Given the description of an element on the screen output the (x, y) to click on. 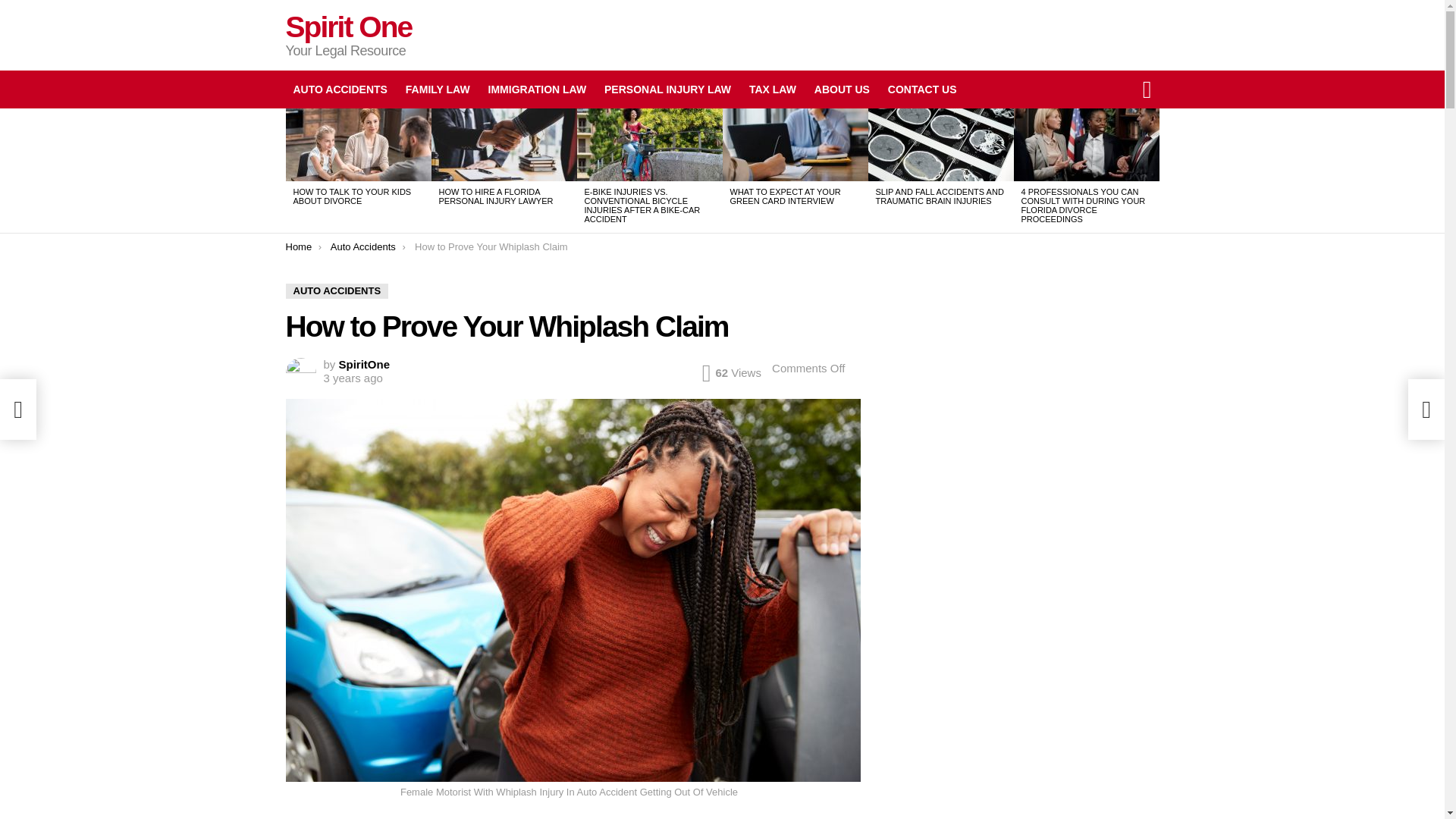
Home (298, 246)
HOW TO HIRE A FLORIDA PERSONAL INJURY LAWYER (495, 196)
HOW TO TALK TO YOUR KIDS ABOUT DIVORCE (351, 196)
Slip and Fall Accidents and Traumatic Brain Injuries (940, 144)
How to Talk to Your Kids About Divorce (357, 144)
ABOUT US (841, 88)
What to Expect at Your Green Card Interview (794, 144)
WHAT TO EXPECT AT YOUR GREEN CARD INTERVIEW (784, 196)
AUTO ACCIDENTS (336, 290)
